Given the description of an element on the screen output the (x, y) to click on. 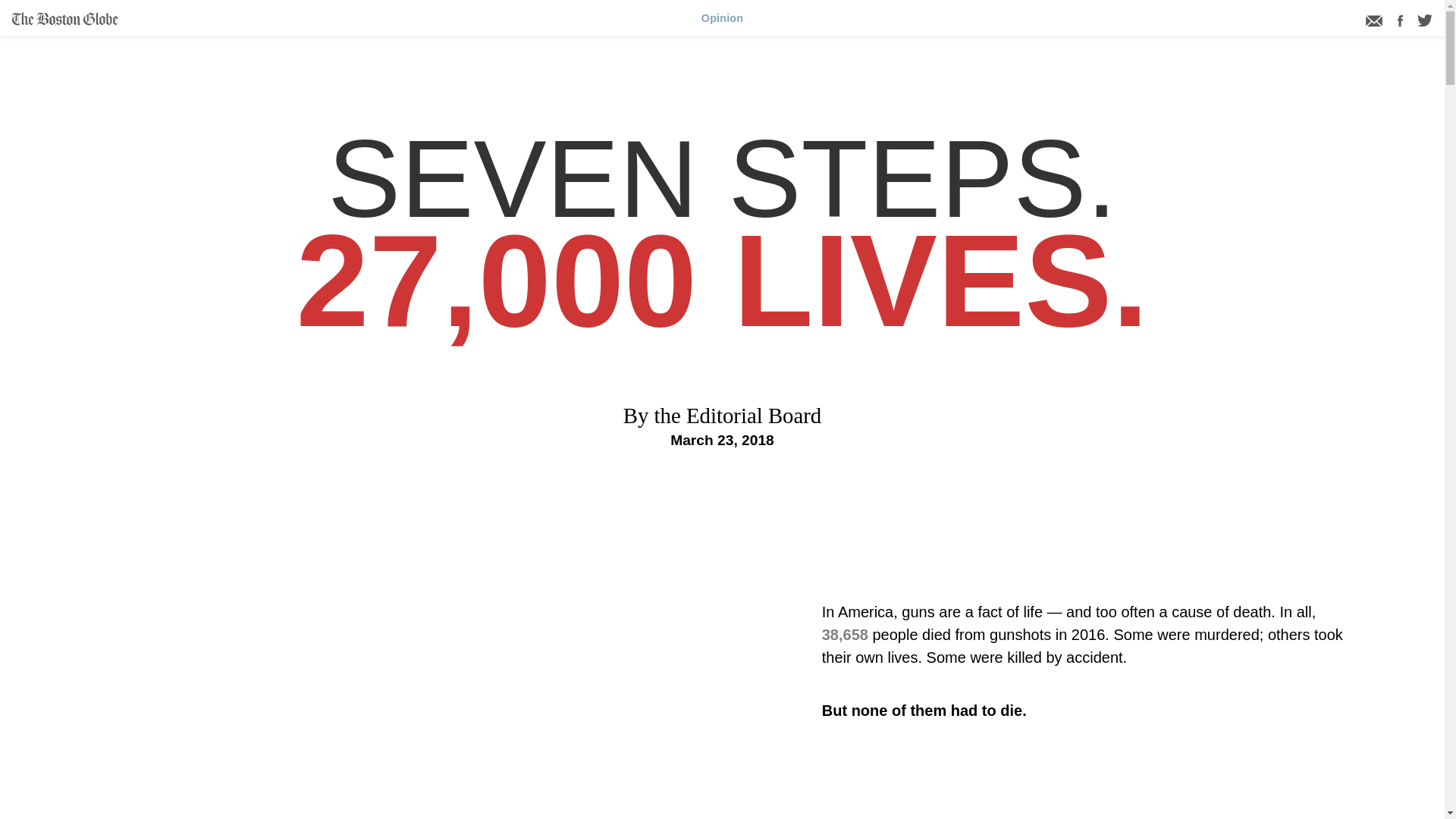
Email to a Friend (1374, 19)
The Boston Globe (64, 19)
Tweet this (1424, 20)
Email to a Friend (1375, 21)
But none of them had to die. (1082, 710)
Tweet this (1424, 21)
Opinion (721, 18)
The Boston Globe (64, 21)
